Given the description of an element on the screen output the (x, y) to click on. 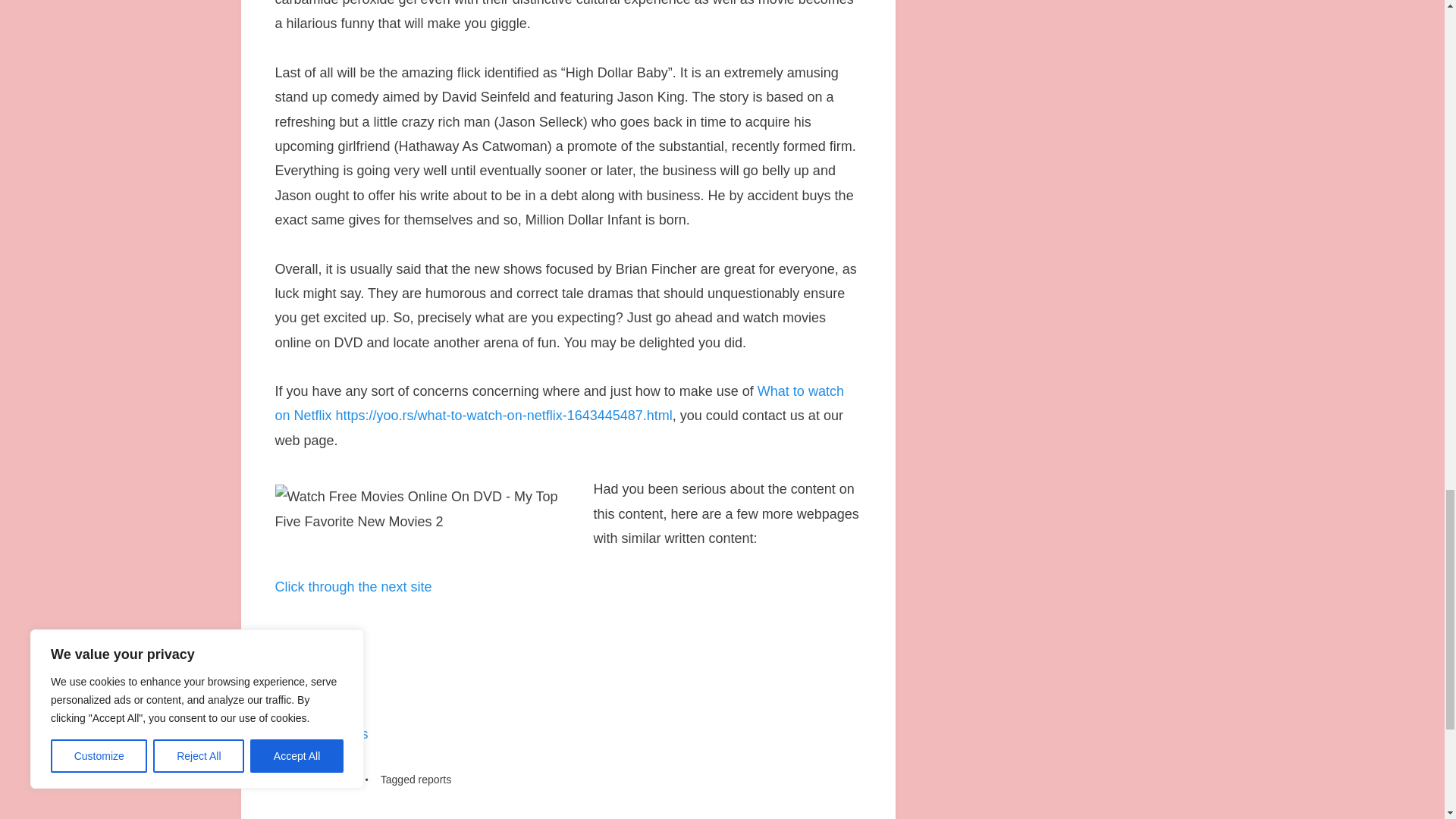
just click Yoo.rs (321, 734)
Click through the next site (352, 586)
Get Source (309, 635)
reports (435, 779)
General (340, 779)
this hyperlink (314, 684)
